Given the description of an element on the screen output the (x, y) to click on. 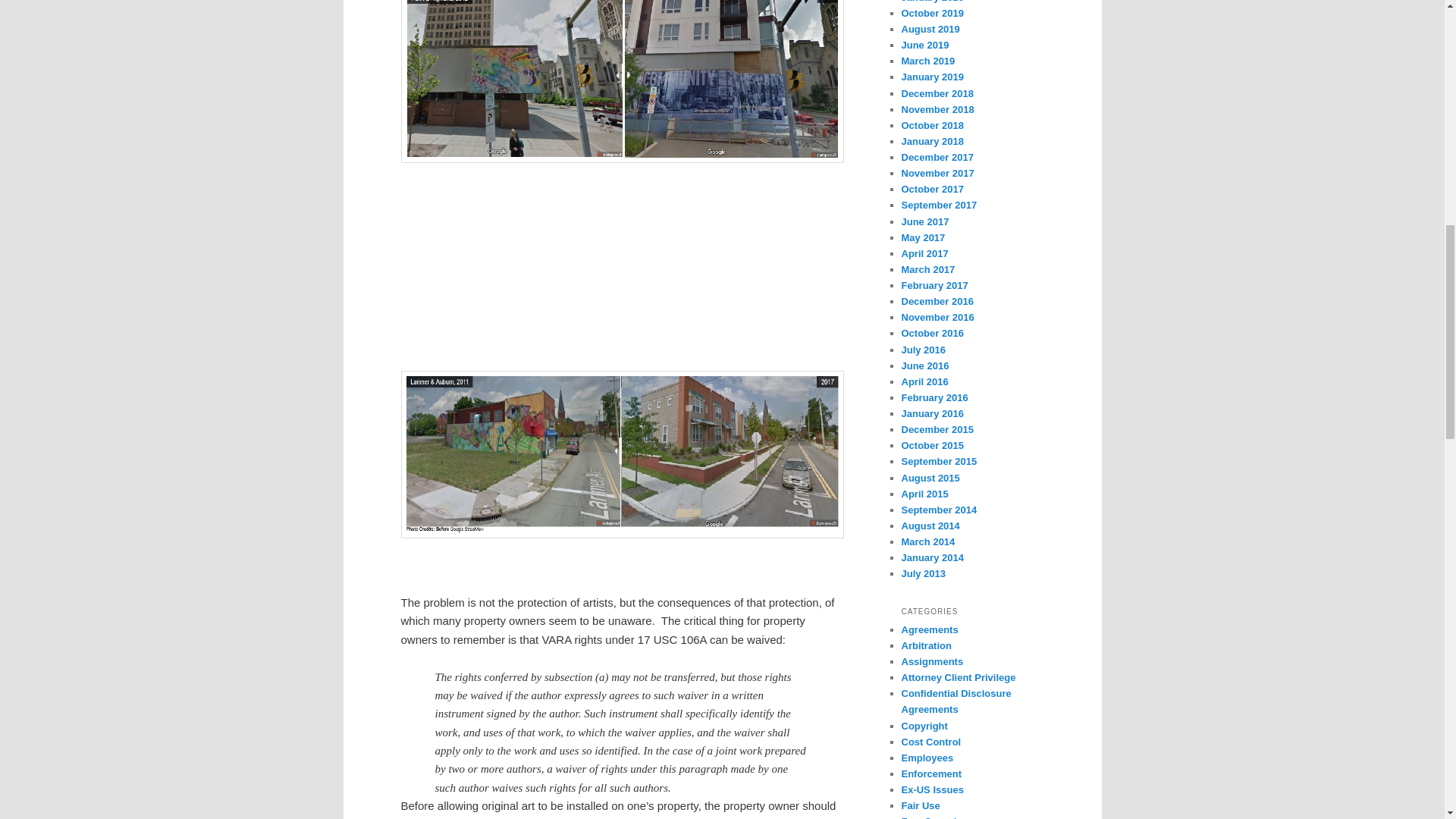
December 2018 (936, 93)
October 2019 (931, 12)
January 2020 (931, 1)
June 2019 (925, 44)
March 2019 (928, 60)
August 2019 (930, 29)
November 2018 (937, 109)
January 2019 (931, 76)
